Given the description of an element on the screen output the (x, y) to click on. 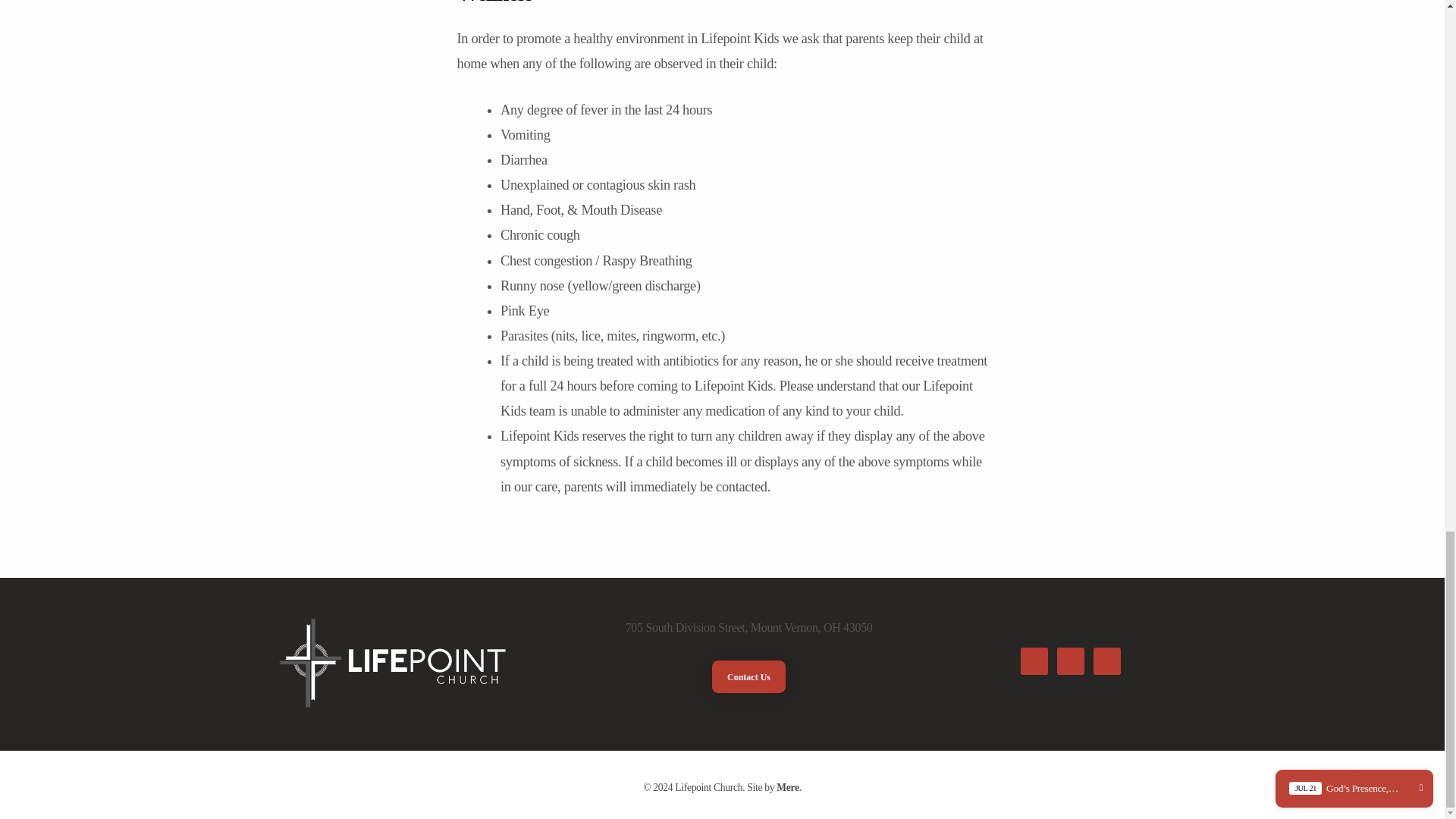
Mere (786, 787)
Contact Us (748, 676)
